Given the description of an element on the screen output the (x, y) to click on. 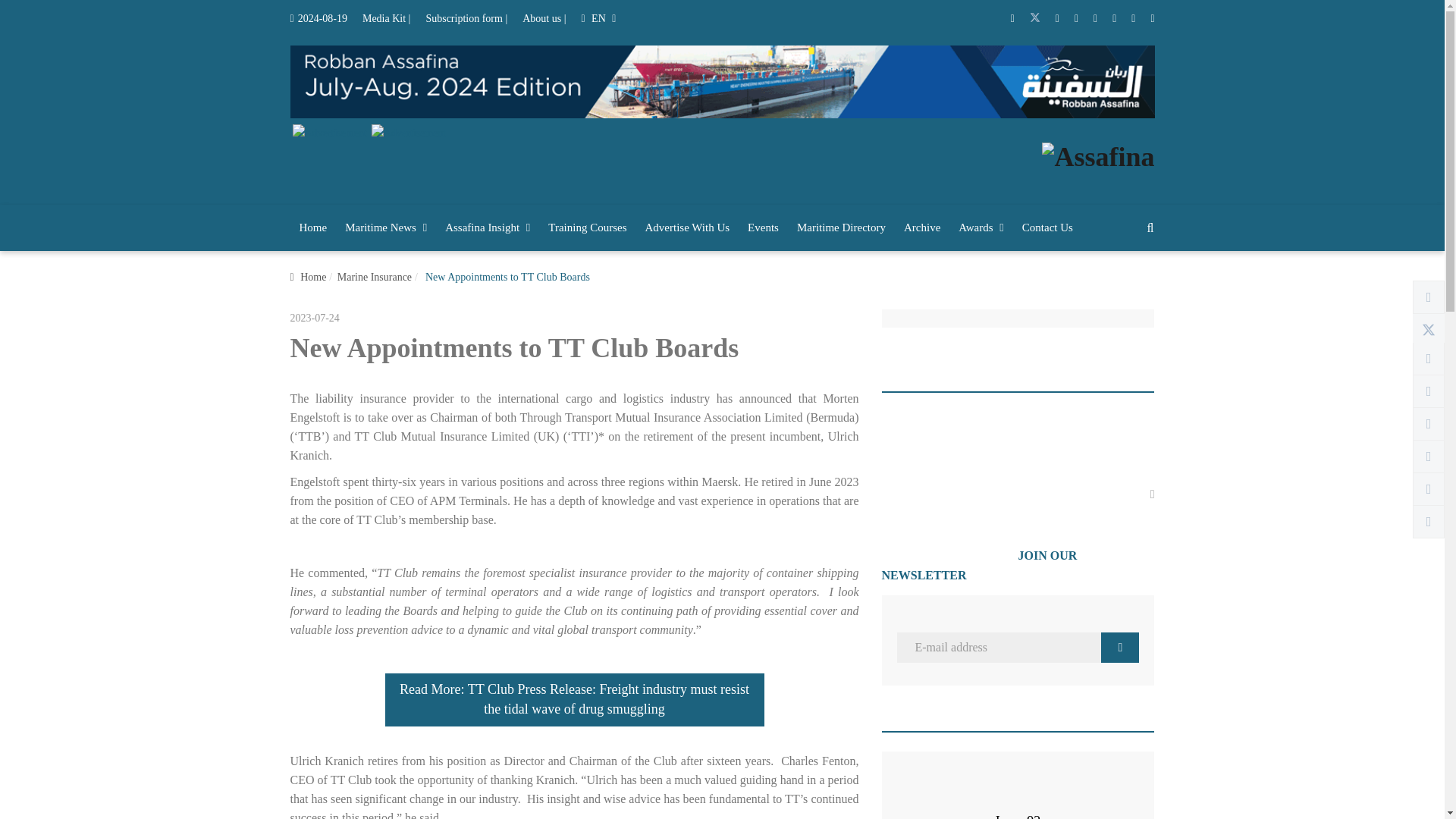
Home (312, 228)
Maritime News (385, 228)
EN (597, 18)
